Given the description of an element on the screen output the (x, y) to click on. 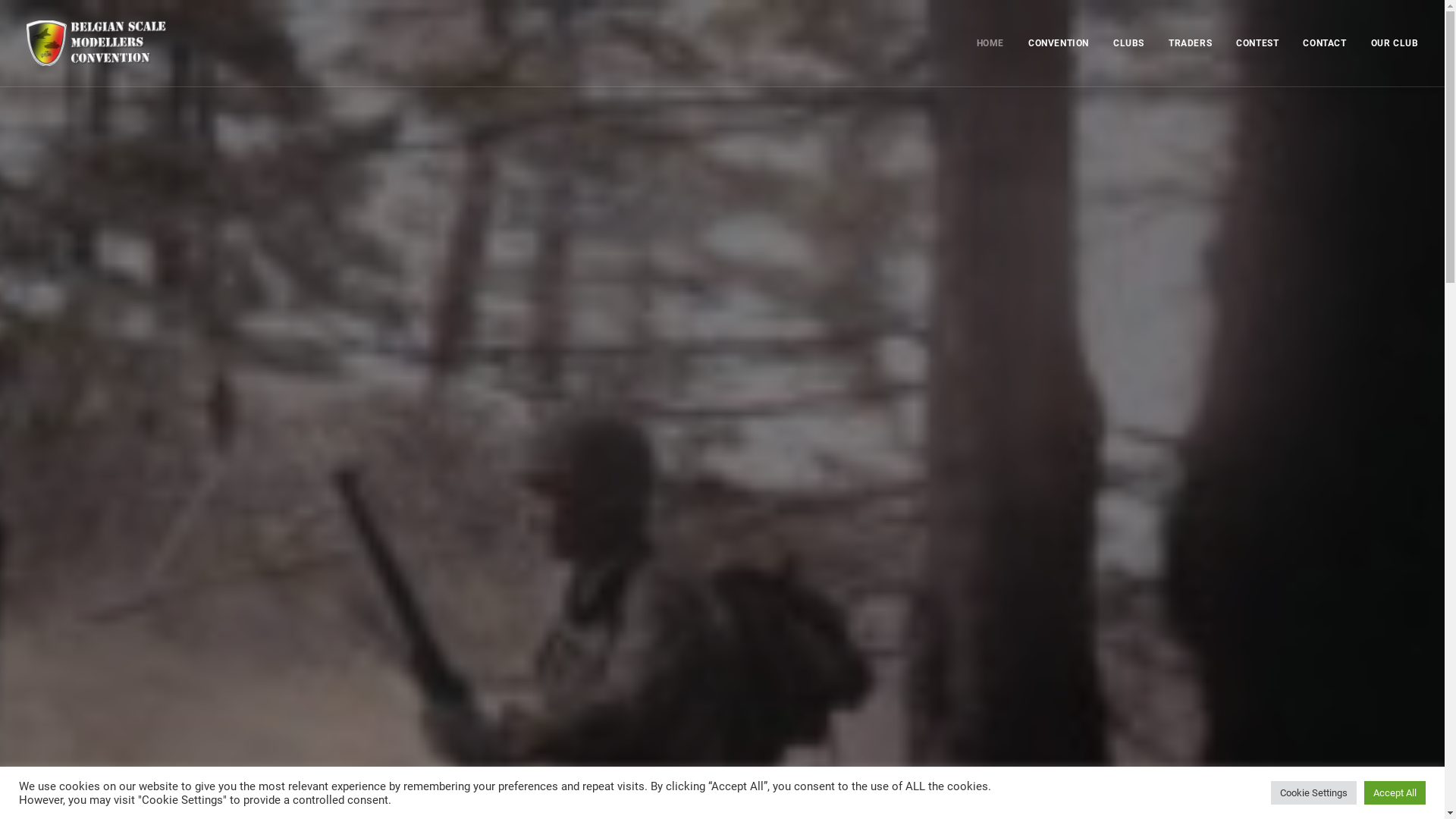
TRADERS Element type: text (1189, 43)
HOME Element type: text (995, 43)
Accept All Element type: text (1394, 792)
Cookie Settings Element type: text (1313, 792)
OUR CLUB Element type: text (1389, 43)
CLUBS Element type: text (1128, 43)
CONTACT Element type: text (1324, 43)
CONVENTION Element type: text (1058, 43)
CONTEST Element type: text (1257, 43)
